Given the description of an element on the screen output the (x, y) to click on. 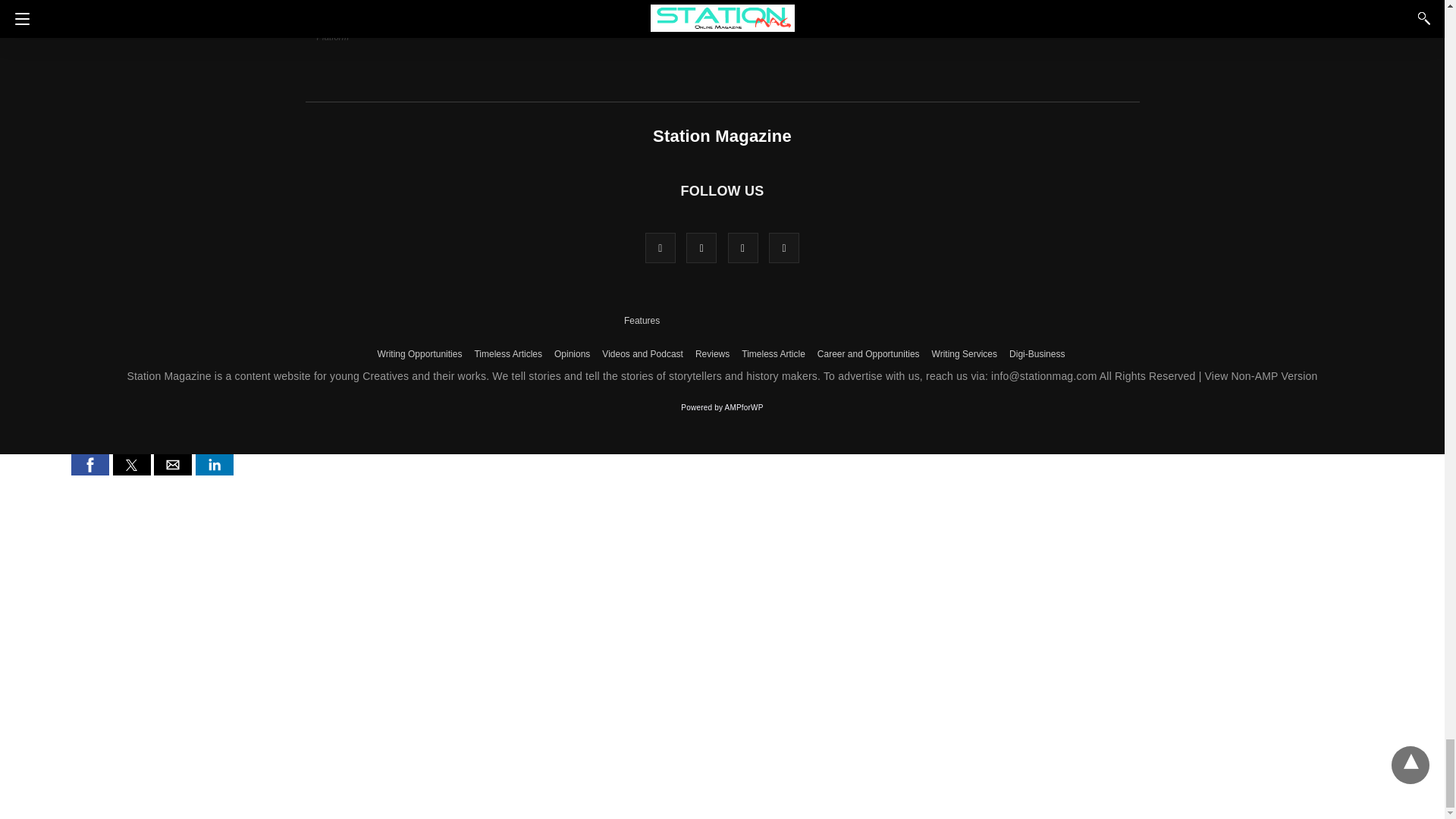
Station Magazine Digital Business  (1036, 354)
